Given the description of an element on the screen output the (x, y) to click on. 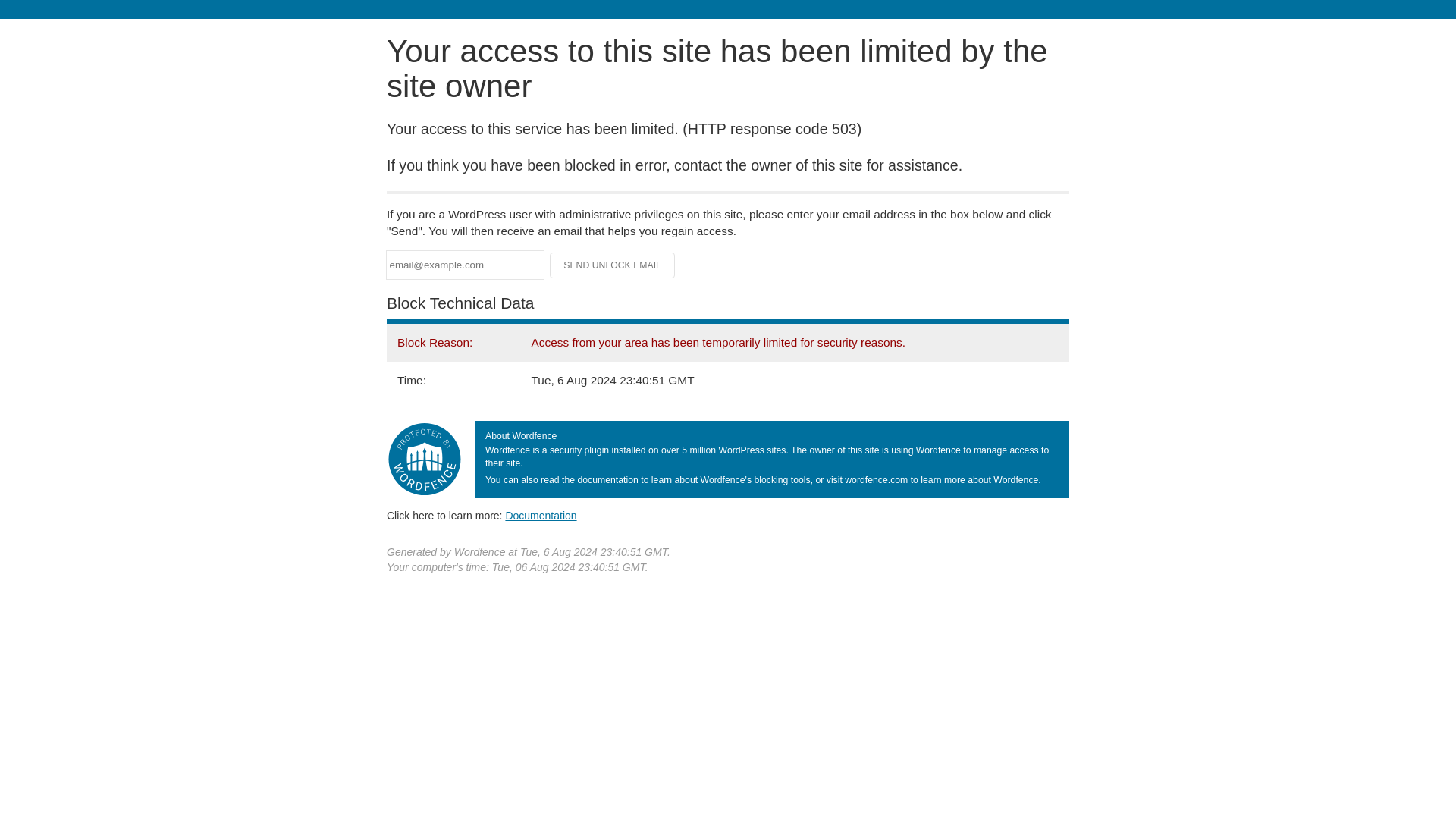
Documentation (540, 515)
Send Unlock Email (612, 265)
Send Unlock Email (612, 265)
